Given the description of an element on the screen output the (x, y) to click on. 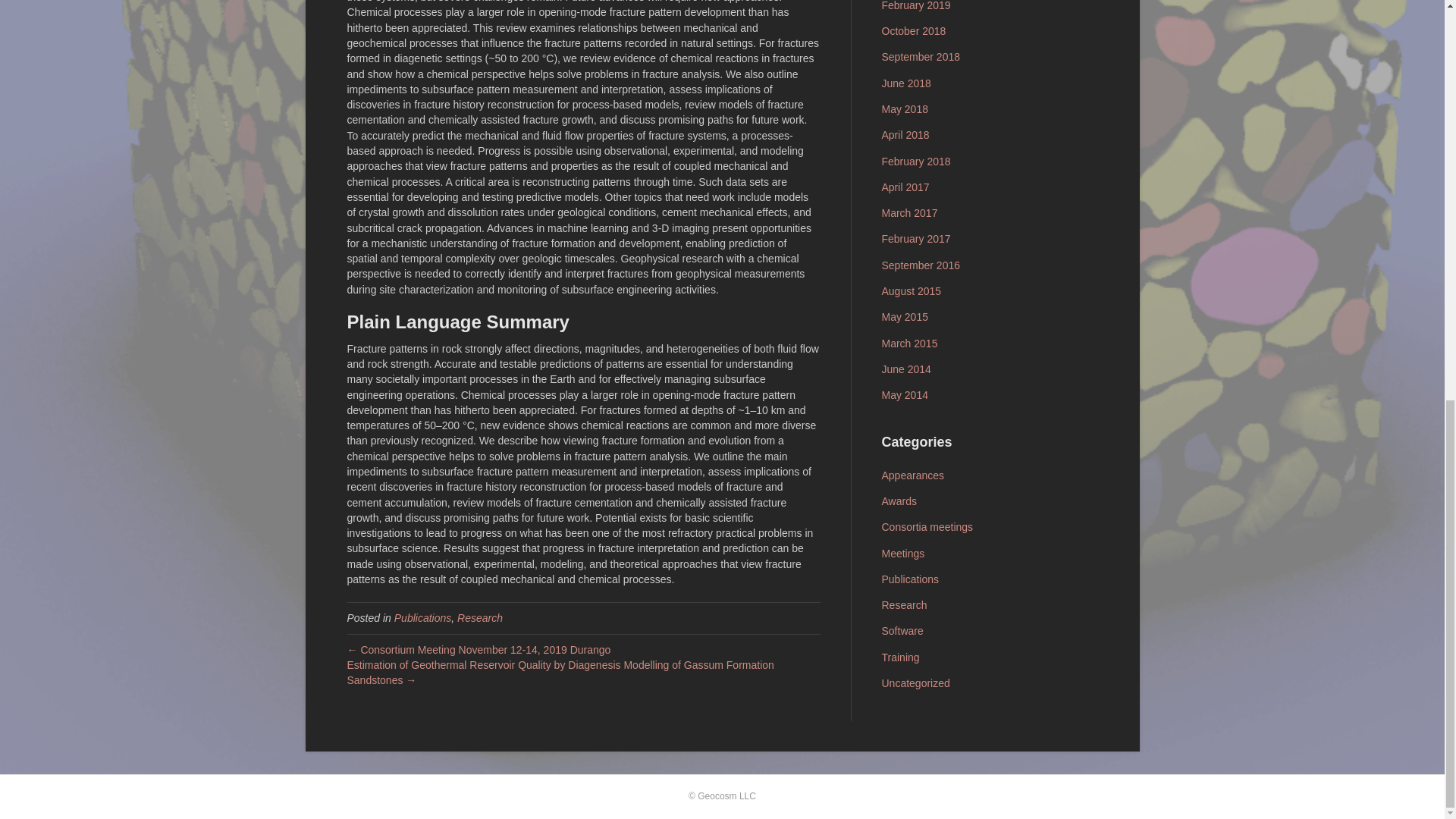
Publications (422, 617)
Research (479, 617)
